Given the description of an element on the screen output the (x, y) to click on. 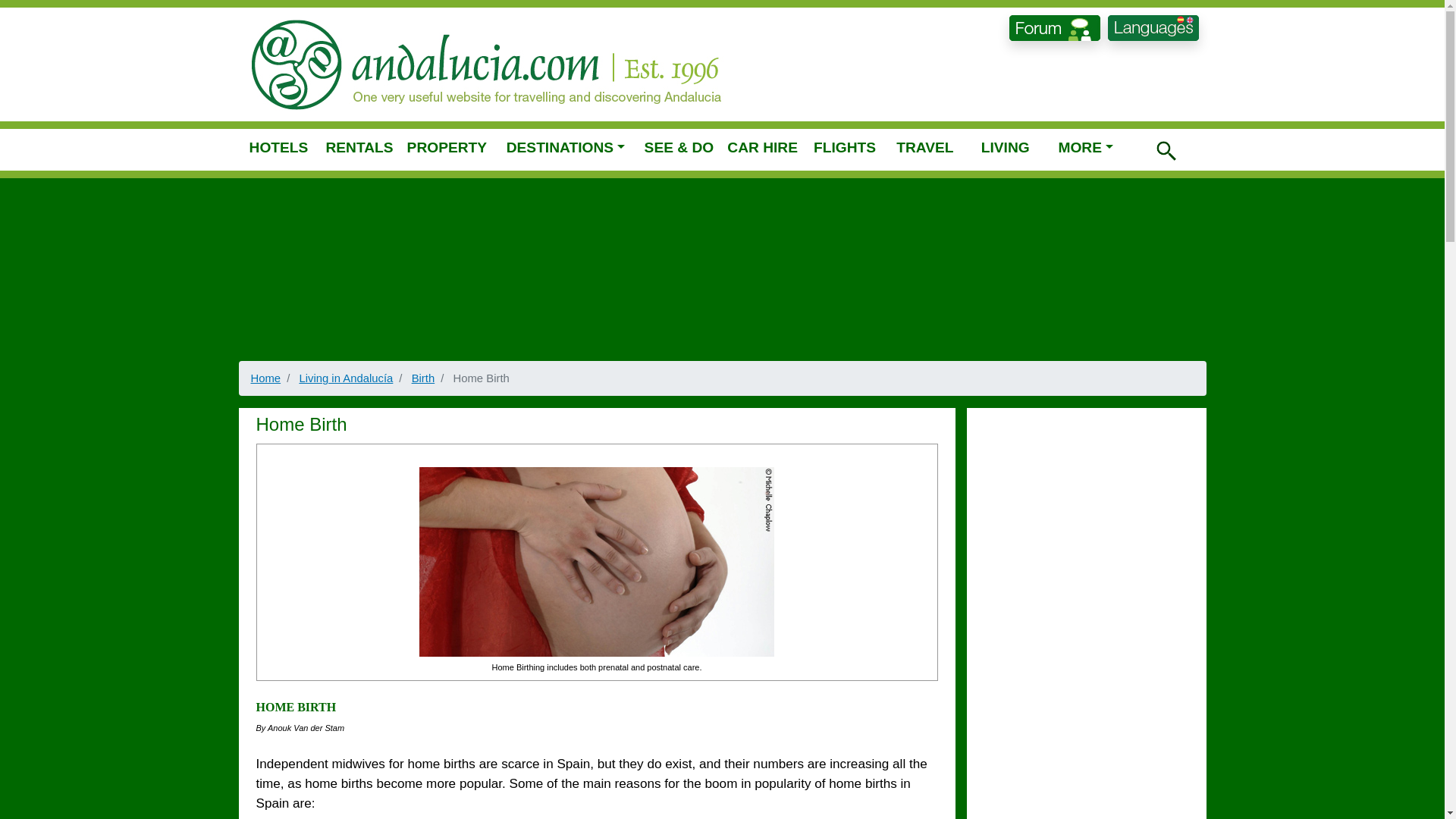
andalucia.com home (503, 64)
HOTELS (279, 146)
Forum (1054, 27)
CAR HIRE (761, 146)
MORE (1085, 146)
RENTALS (358, 146)
Search Andalucia.com (1165, 150)
LIVING (1005, 146)
Skip to main content (721, 8)
DESTINATIONS (565, 146)
